Given the description of an element on the screen output the (x, y) to click on. 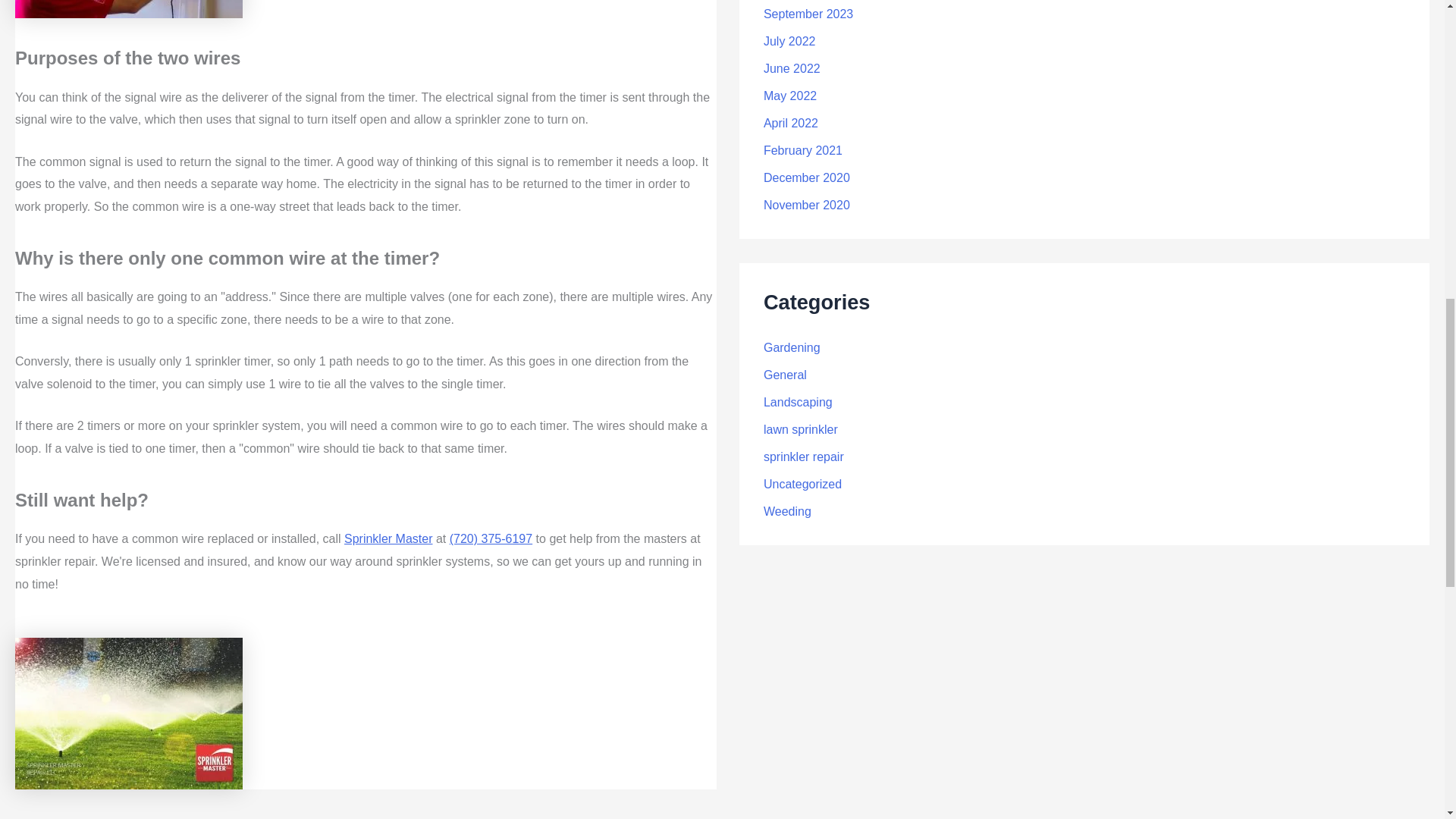
How to fix valves (156, 816)
Drip Irrigation and It's Importance For Your Garden (573, 816)
